Given the description of an element on the screen output the (x, y) to click on. 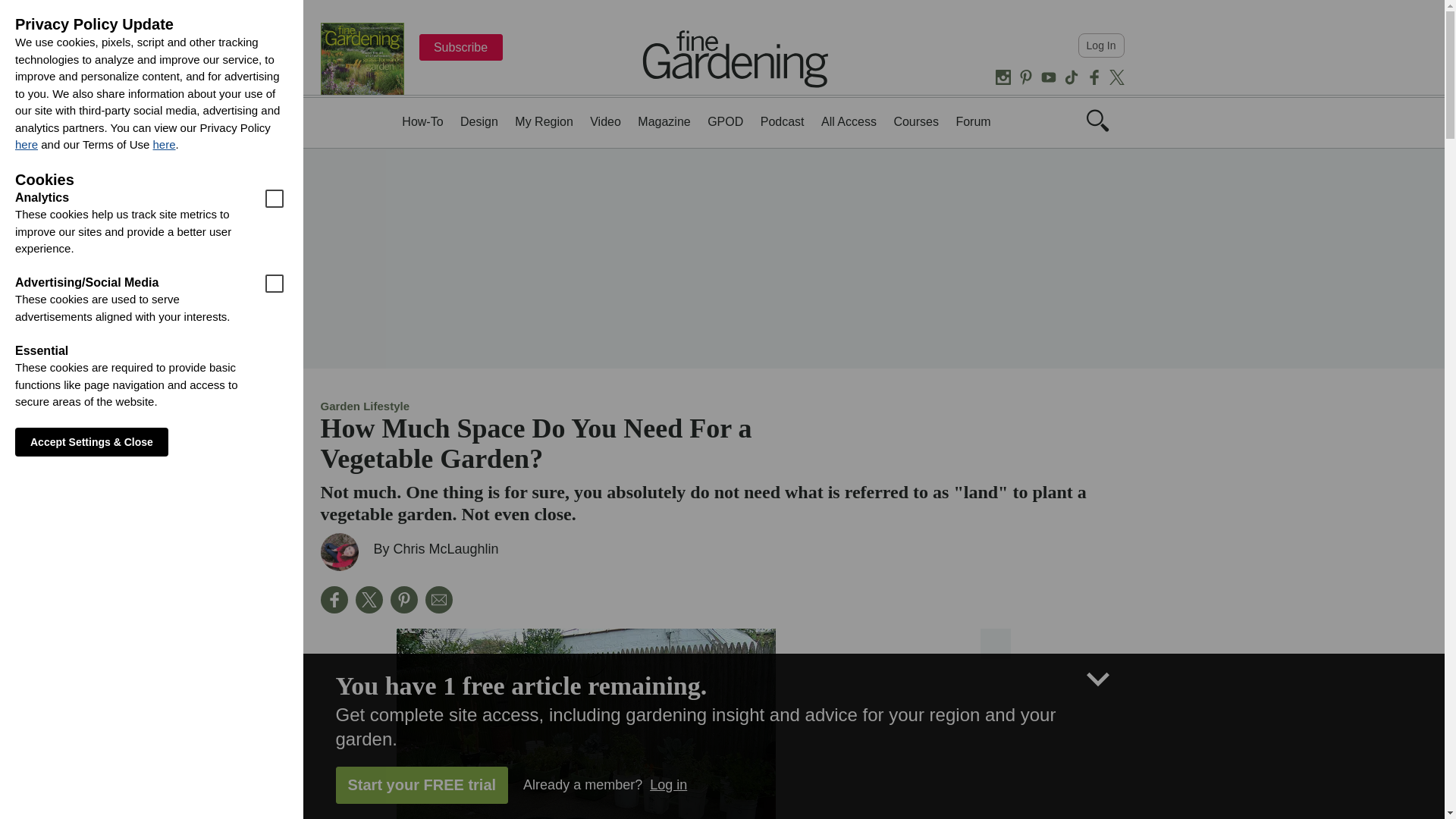
My Region (543, 121)
YouTube (1048, 77)
Magazine (663, 121)
Podcast (782, 121)
Garden Lifestyle (364, 405)
Twitter (1116, 77)
Instragram (1002, 77)
Video (605, 121)
All Access (848, 121)
Chris McLaughlin (446, 548)
